Given the description of an element on the screen output the (x, y) to click on. 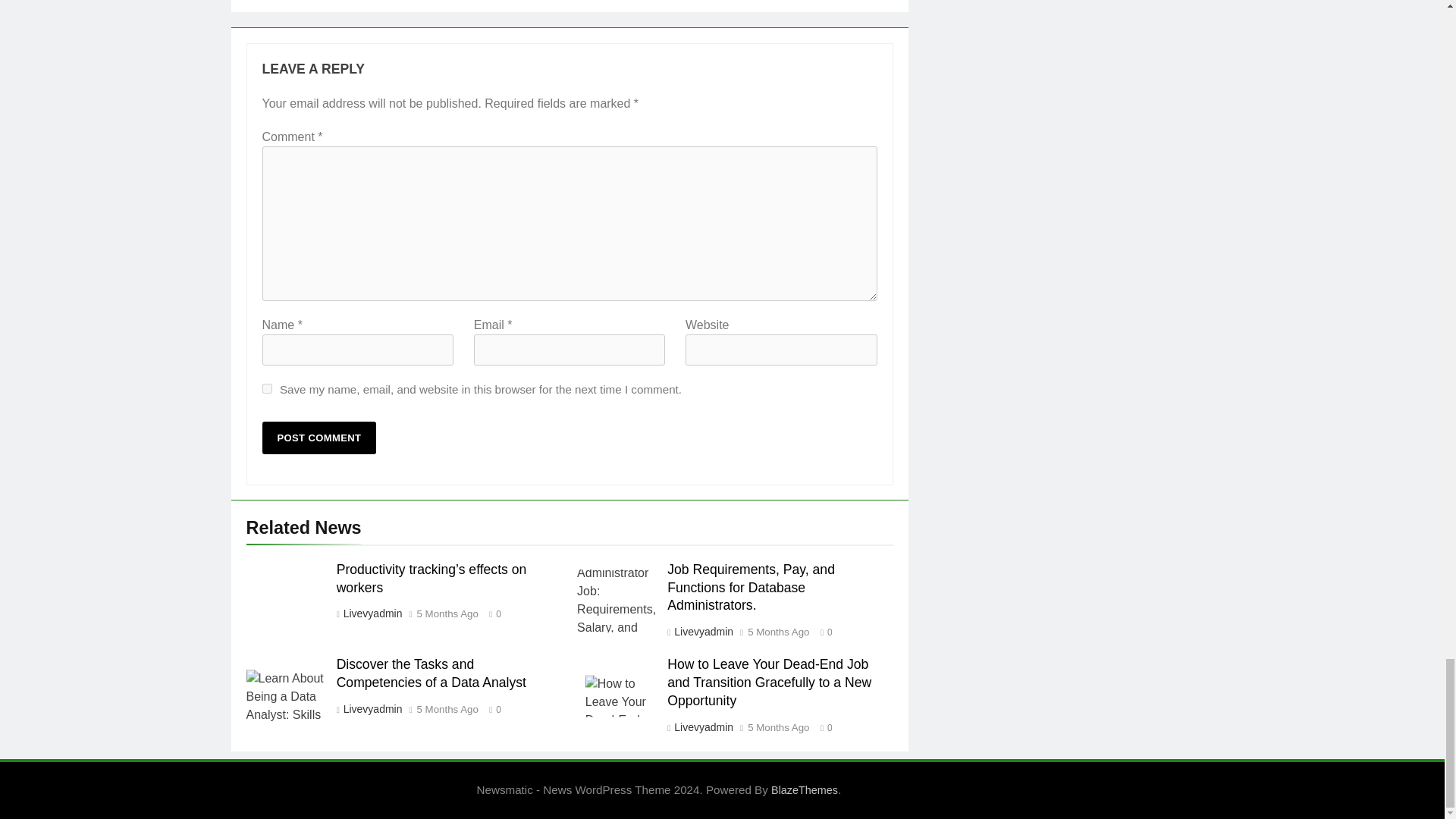
Post Comment (319, 437)
yes (267, 388)
